Given the description of an element on the screen output the (x, y) to click on. 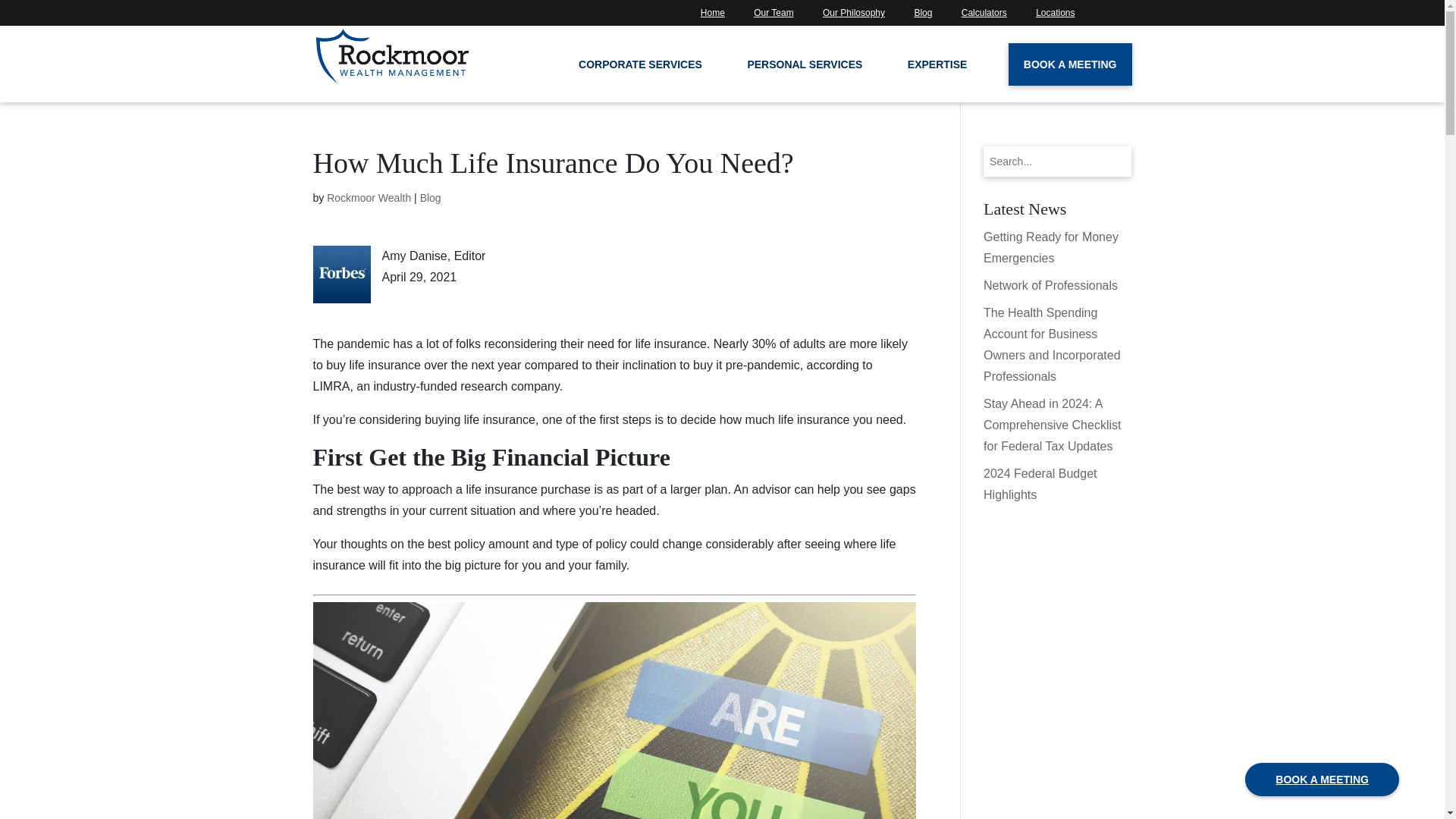
Home (712, 15)
Locations (1054, 15)
BOOK A MEETING (1070, 64)
Posts by Rockmoor Wealth (368, 197)
Our Team (772, 15)
EXPERTISE (937, 73)
Calculators (983, 15)
Our Philosophy (853, 15)
Blog (922, 15)
CORPORATE SERVICES (642, 73)
PERSONAL SERVICES (806, 73)
